Given the description of an element on the screen output the (x, y) to click on. 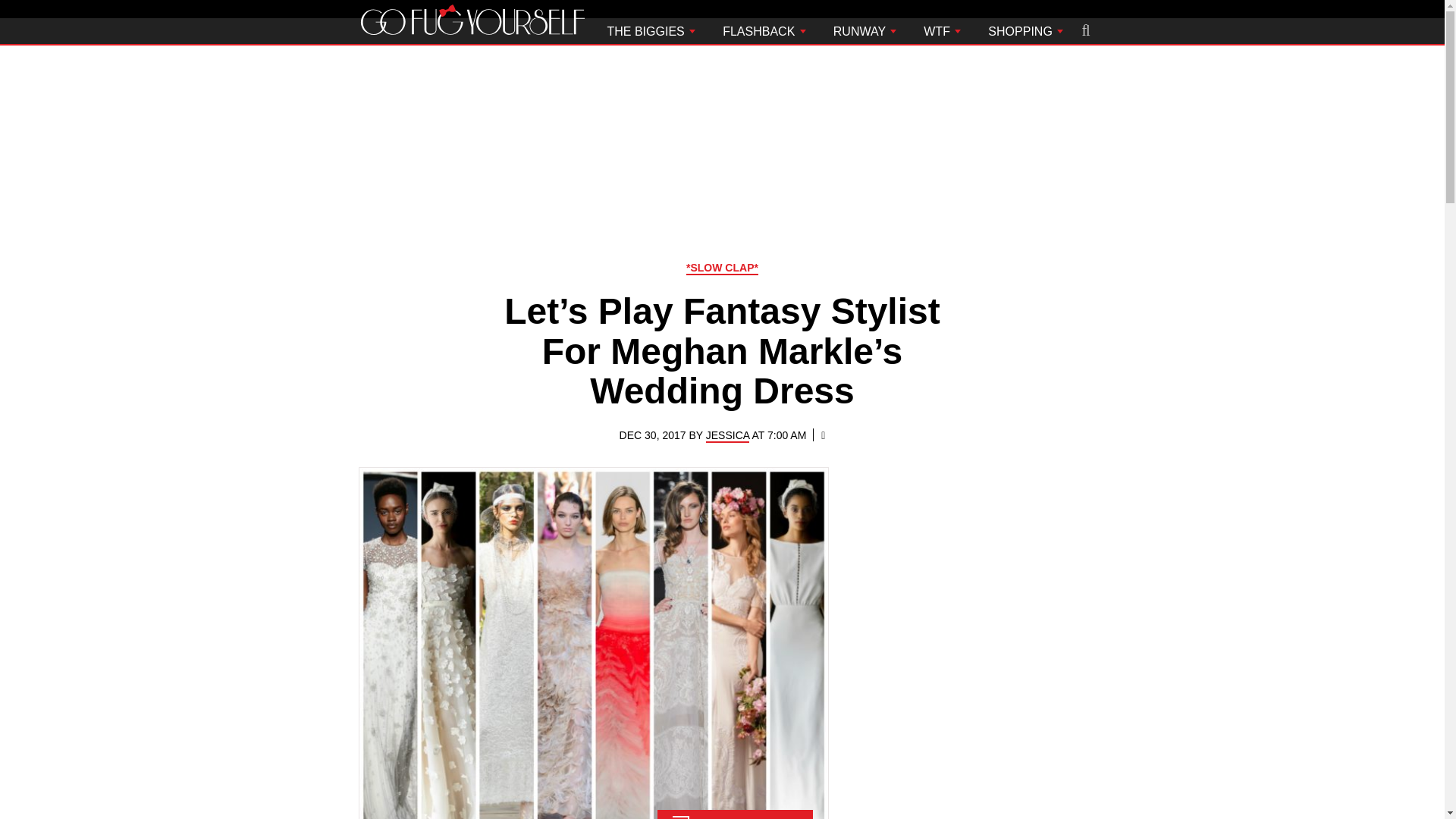
WTF (942, 30)
THE BIGGIES (650, 30)
3rd party ad content (721, 149)
RUNWAY (864, 30)
FLASHBACK (764, 30)
